Given the description of an element on the screen output the (x, y) to click on. 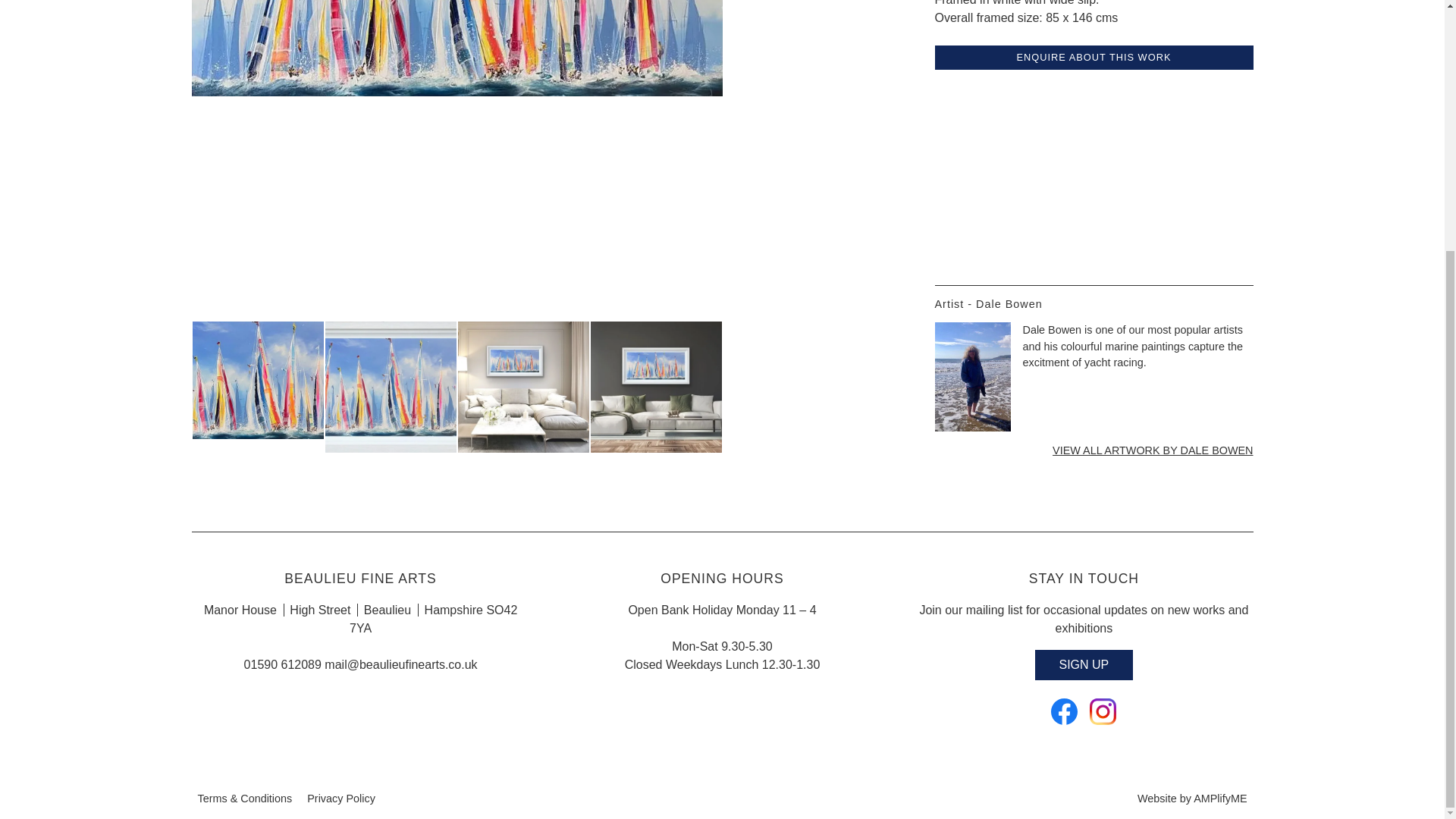
Beaulieu Fine Arts  (1102, 714)
Beaulieu Fine Arts  (1064, 714)
website design and development by AMPLifyME (1191, 798)
